Given the description of an element on the screen output the (x, y) to click on. 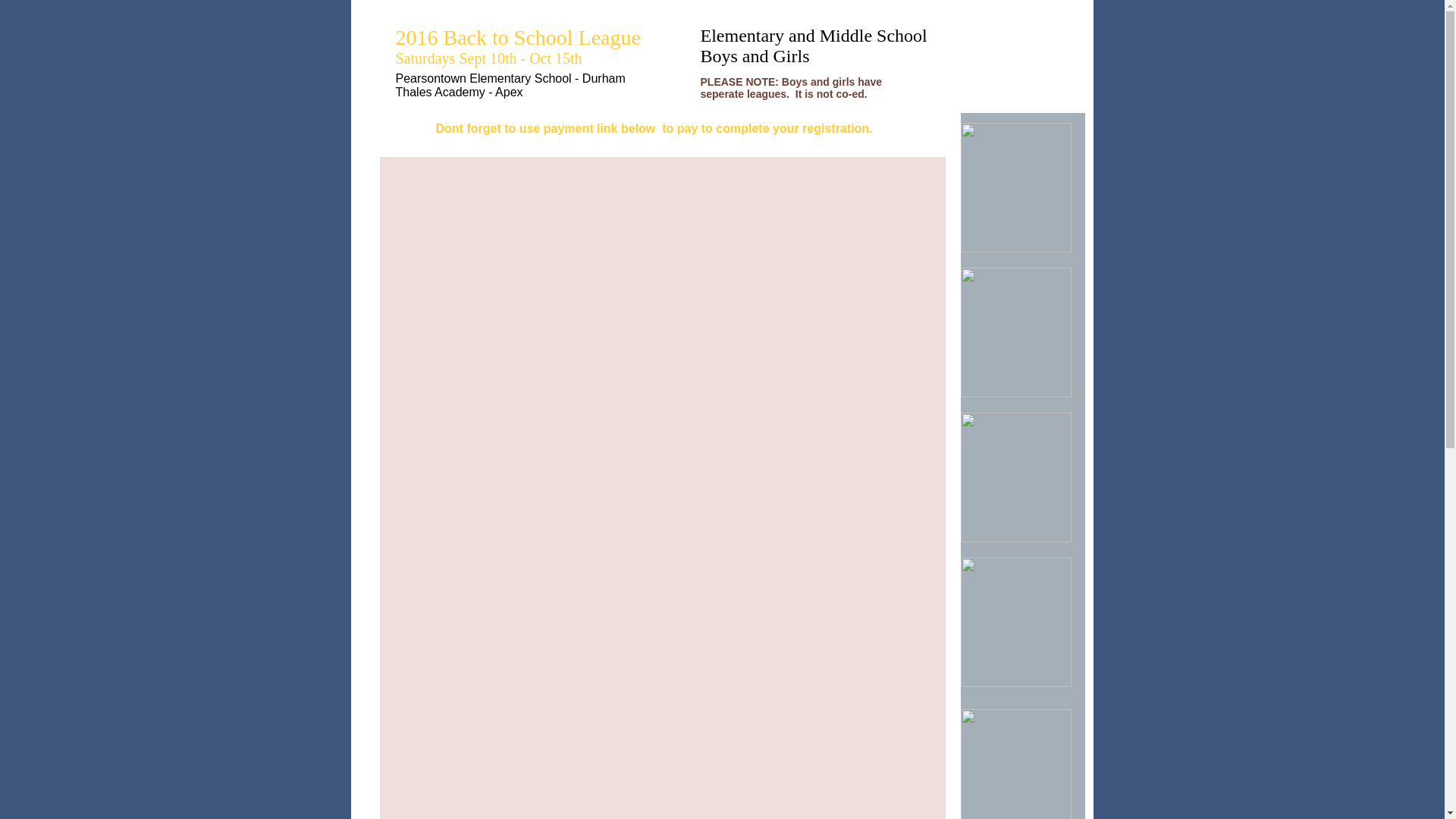
TN tourney1.jpg (1014, 764)
USSSA 2014 053.JPG (1014, 187)
ce657.jpg (1014, 332)
Log In (1021, 57)
